Given the description of an element on the screen output the (x, y) to click on. 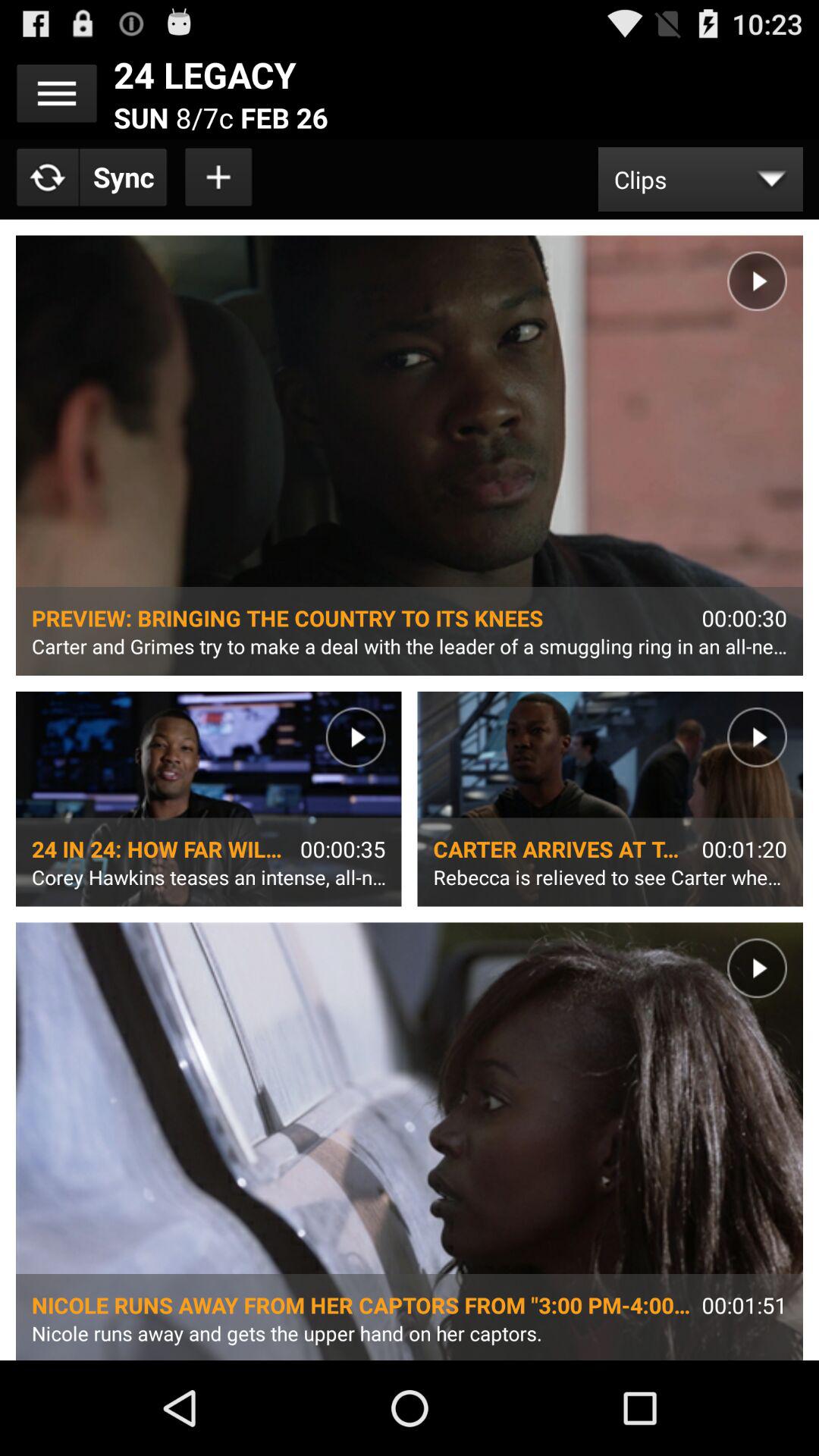
added (219, 177)
